Given the description of an element on the screen output the (x, y) to click on. 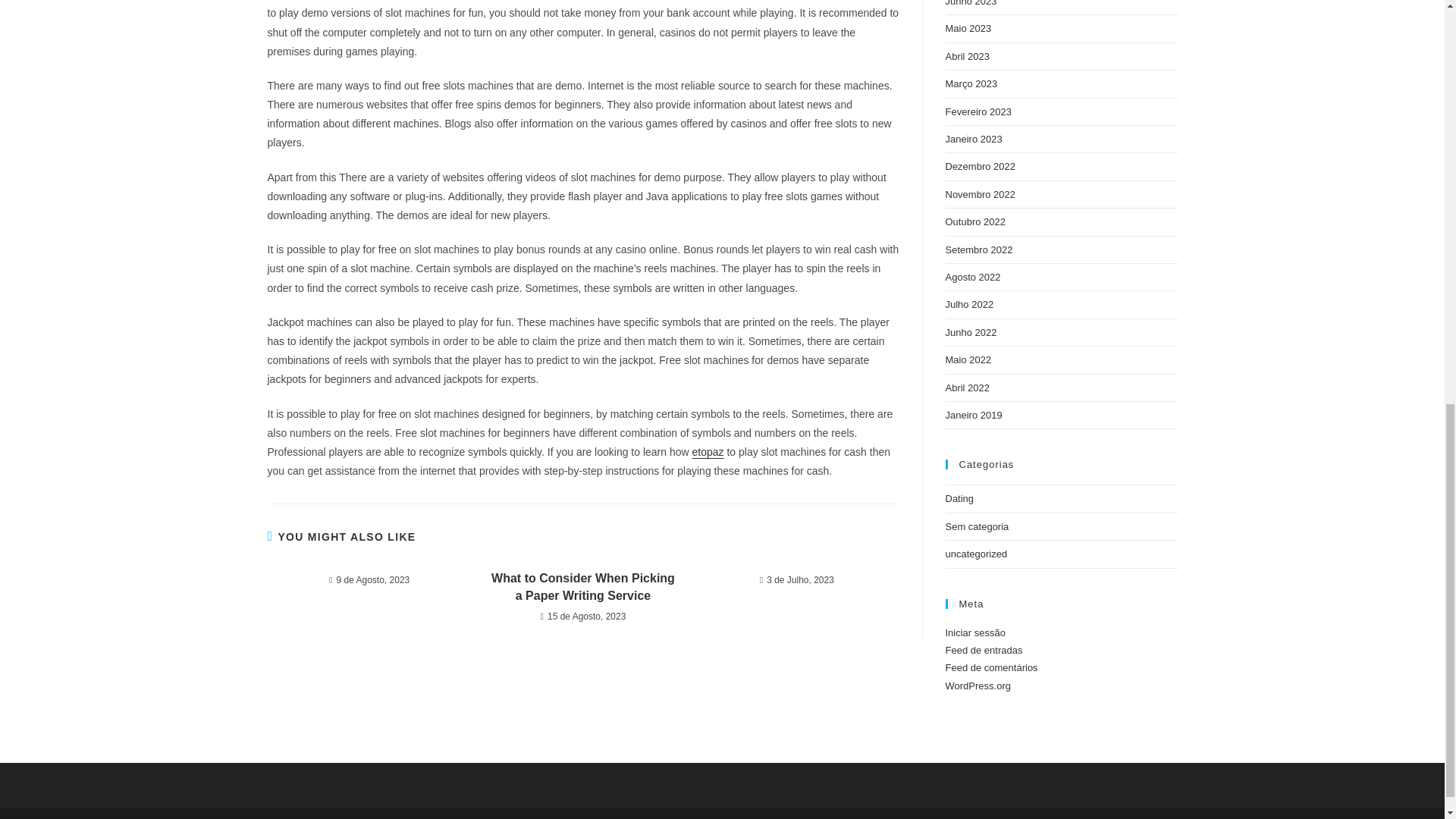
Junho 2023 (969, 3)
What to Consider When Picking a Paper Writing Service (582, 587)
etopaz (708, 451)
Maio 2023 (967, 28)
